Given the description of an element on the screen output the (x, y) to click on. 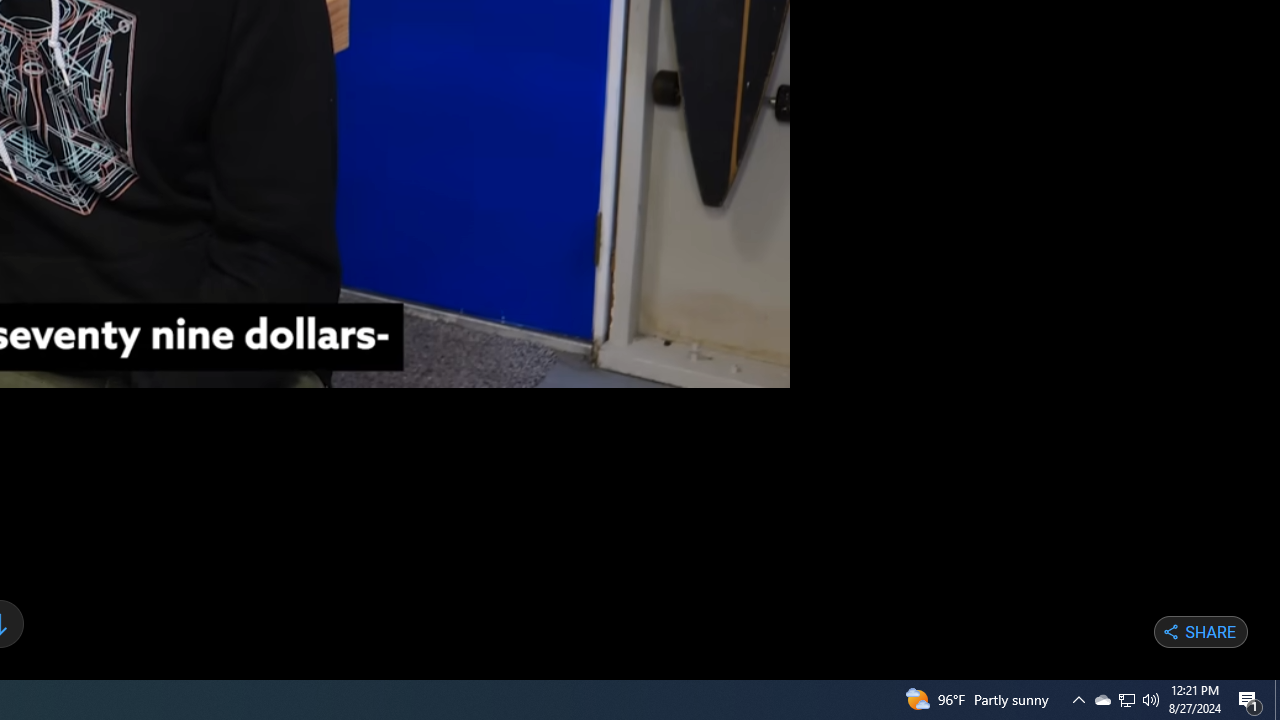
Copy Link (1147, 631)
Share on Twitter (1119, 631)
Watch on www.youtube.com (718, 358)
Share on Facebook (1092, 631)
Share (1200, 632)
